Given the description of an element on the screen output the (x, y) to click on. 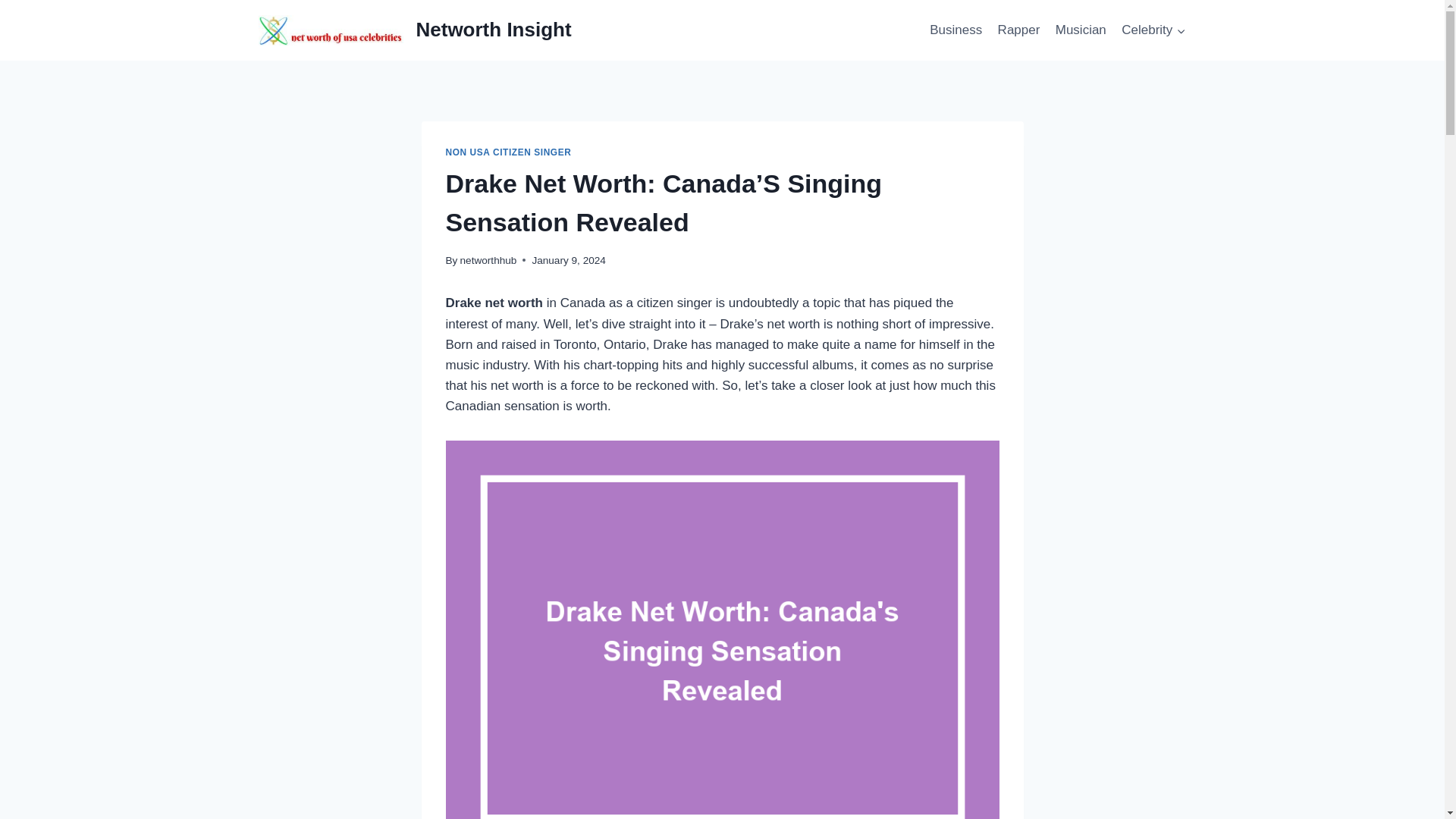
networthhub (488, 260)
NON USA CITIZEN SINGER (508, 152)
Rapper (1018, 30)
Celebrity (1152, 30)
Networth Insight (411, 30)
Business (955, 30)
Musician (1080, 30)
